Given the description of an element on the screen output the (x, y) to click on. 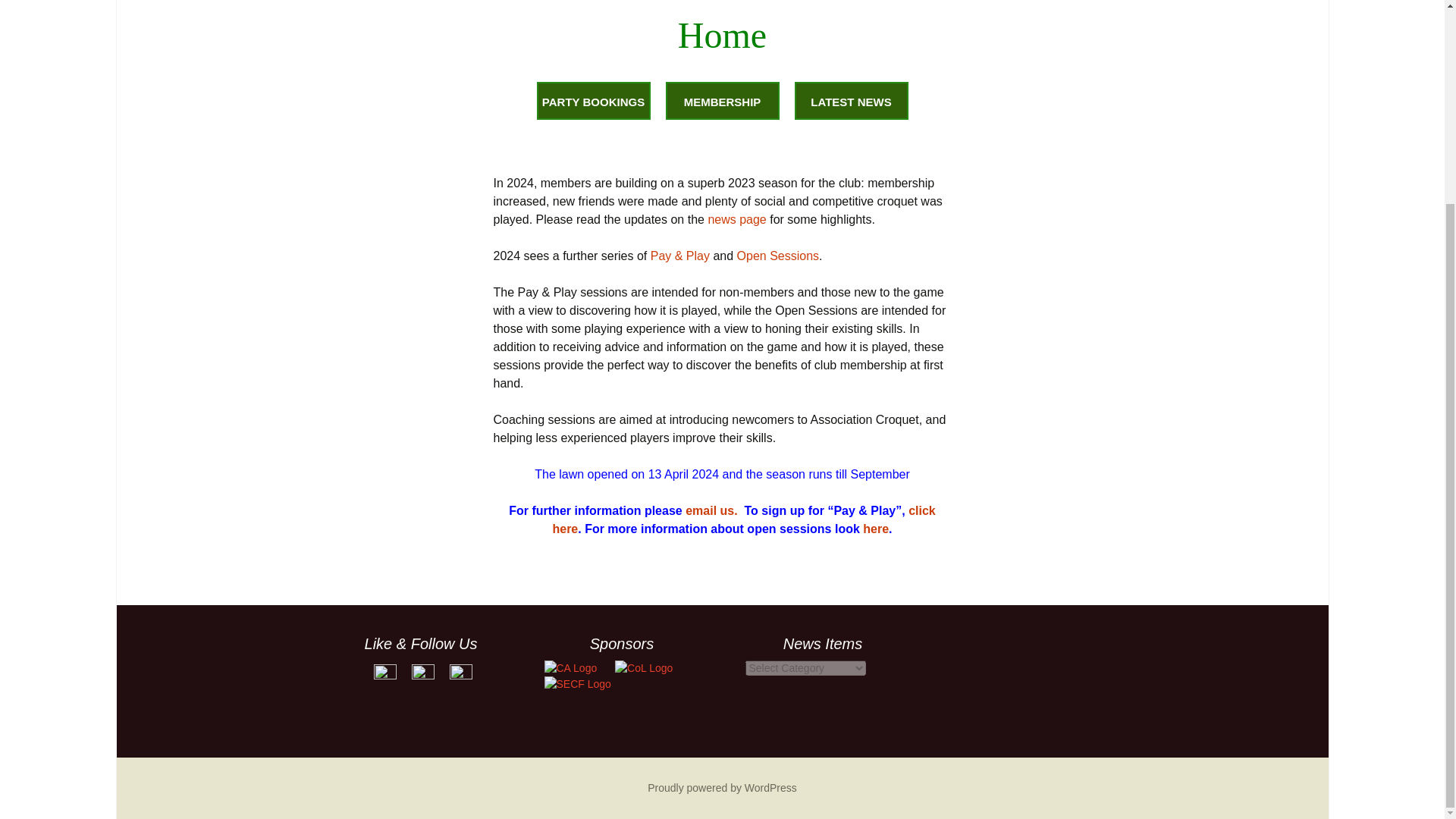
MEMBERSHIP (721, 100)
email us. (710, 510)
Proudly powered by WordPress (721, 787)
PARTY BOOKINGS (593, 100)
LATEST NEWS (851, 100)
Open Sessions (777, 255)
news page (736, 219)
click here (742, 519)
here (875, 528)
